Given the description of an element on the screen output the (x, y) to click on. 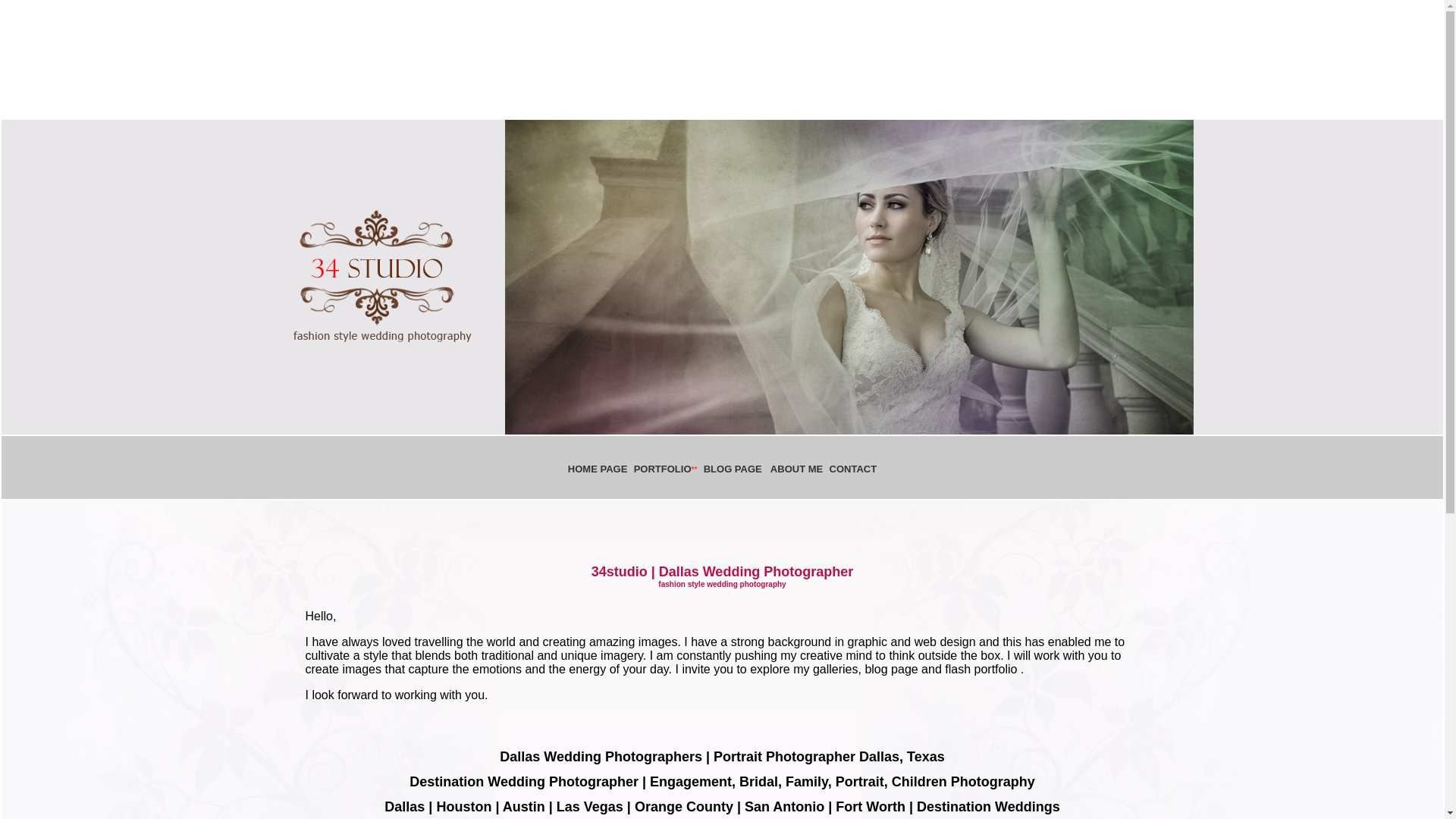
HOME PAGE Element type: text (644, 474)
BLOG PAGE Element type: text (732, 468)
Bridal Element type: text (758, 781)
34studio | Dallas Wedding Photographer Element type: text (722, 571)
ABOUT ME Element type: text (796, 468)
Dallas Wedding Photographers Element type: text (600, 756)
Portrait Photographer Dallas, Texas Element type: text (828, 756)
PORTFOLIO Element type: text (662, 468)
Family, Portrait, Children Photography Element type: text (910, 781)
CONTACT Element type: text (853, 468)
Engagement Element type: text (690, 781)
Destination Wedding Photographer Element type: text (523, 781)
fashion style wedding photography Element type: text (721, 584)
